Given the description of an element on the screen output the (x, y) to click on. 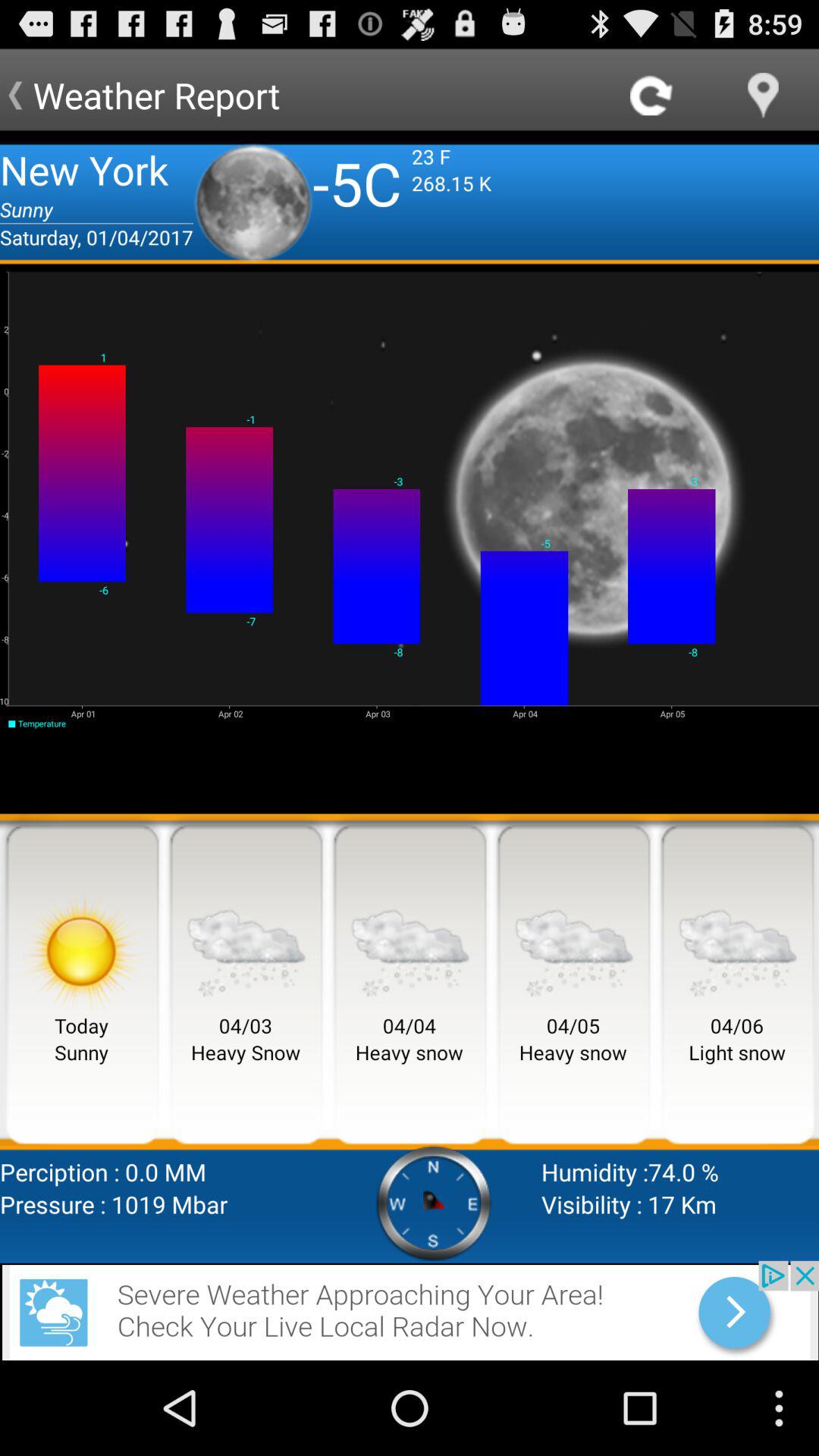
add location (763, 95)
